Given the description of an element on the screen output the (x, y) to click on. 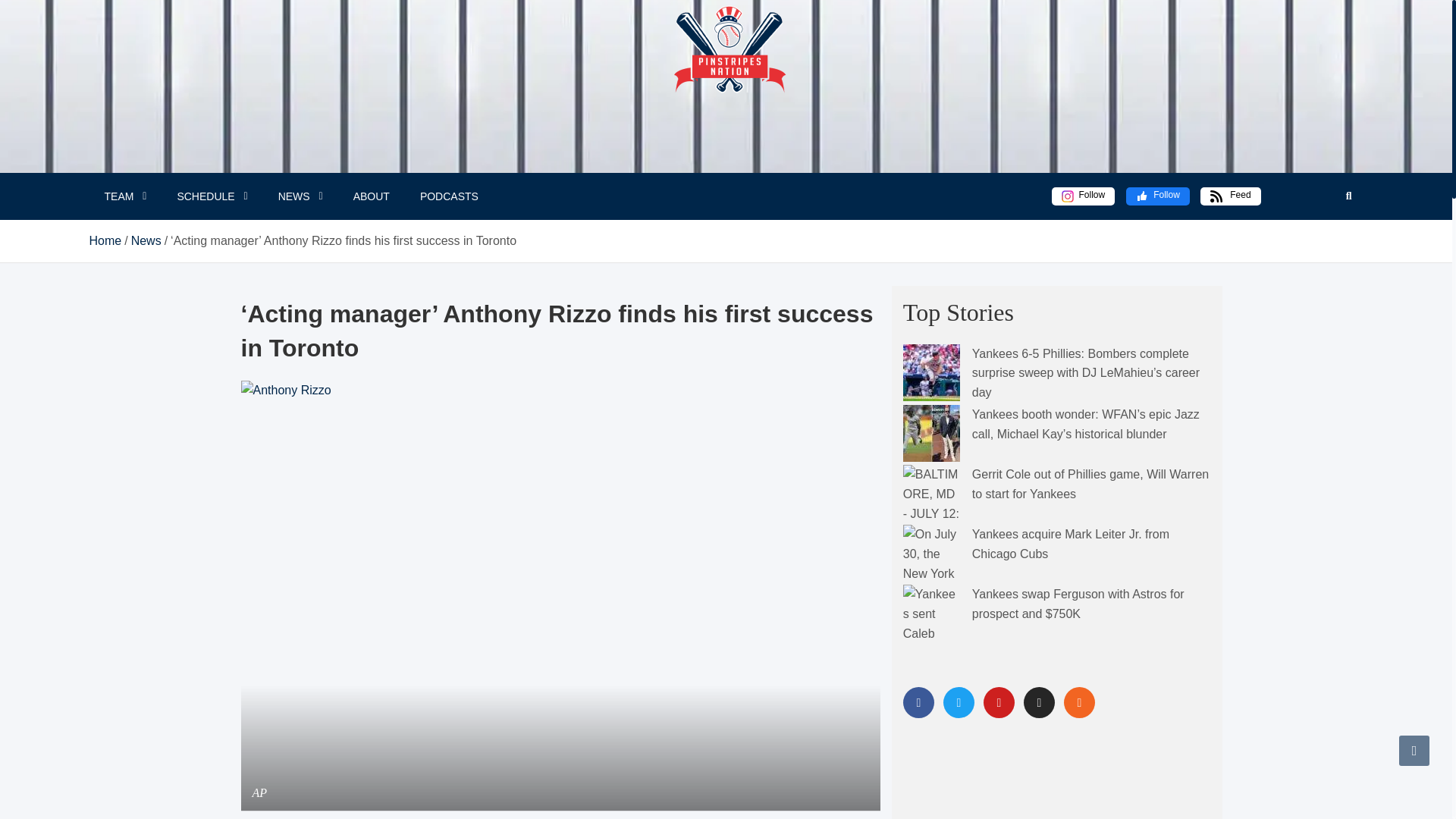
SCHEDULE (211, 196)
Follow Pinstripes Nation's Page on Facebook (1157, 196)
Follow (1083, 196)
News (146, 240)
Follow Pinstripes Nation's Page on Instagram (1083, 196)
TEAM (124, 196)
Pinstripes Nation (721, 86)
PODCASTS (448, 196)
Home (105, 240)
Feed (1229, 196)
NEWS (300, 196)
Follow (1157, 196)
ABOUT (370, 196)
